Given the description of an element on the screen output the (x, y) to click on. 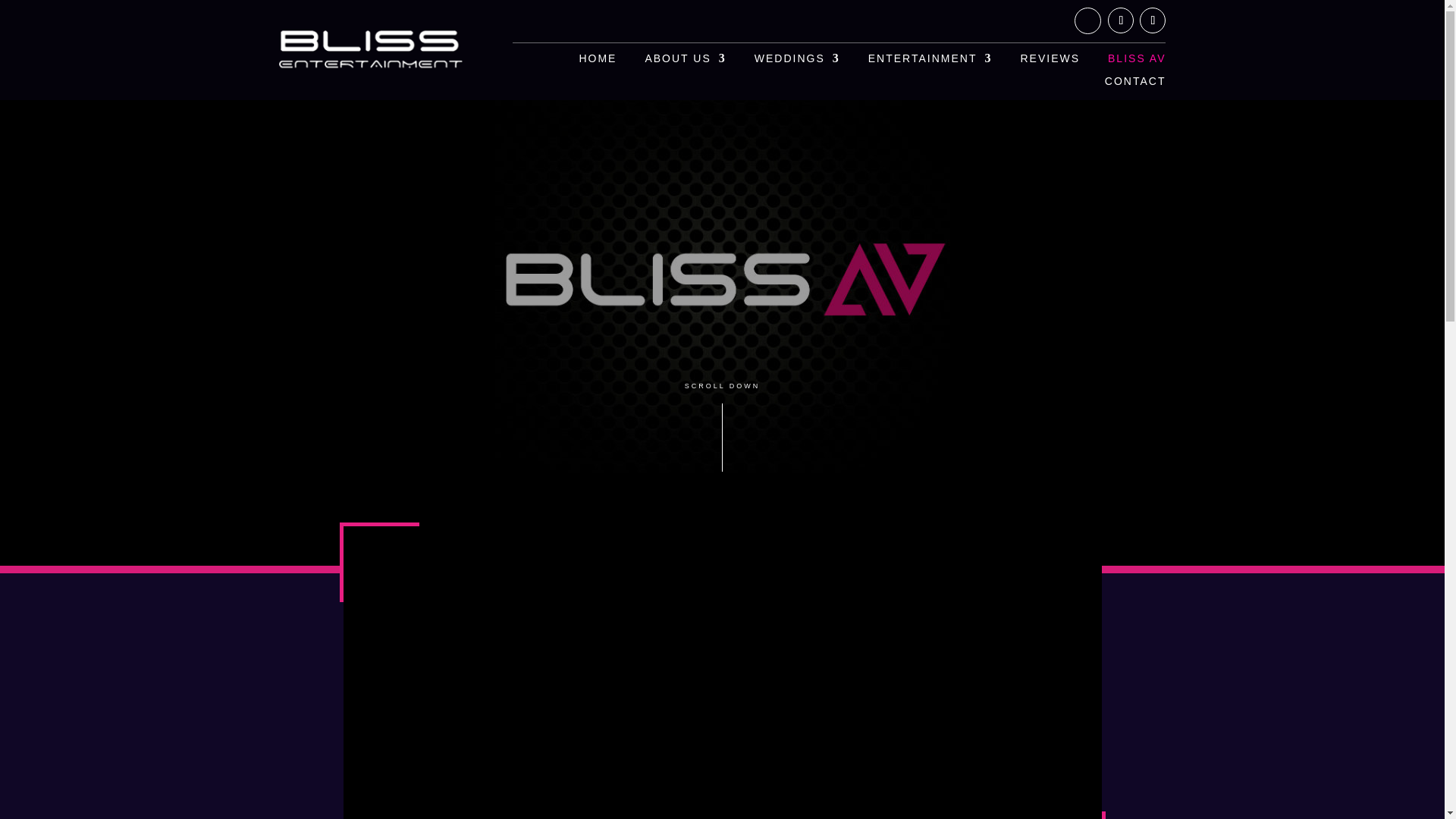
WEDDINGS (797, 61)
logo (371, 50)
ENTERTAINMENT (929, 61)
HOME (596, 61)
Follow on Instagram (1153, 20)
Follow on Facebook (1121, 20)
ABOUT US (685, 61)
